Given the description of an element on the screen output the (x, y) to click on. 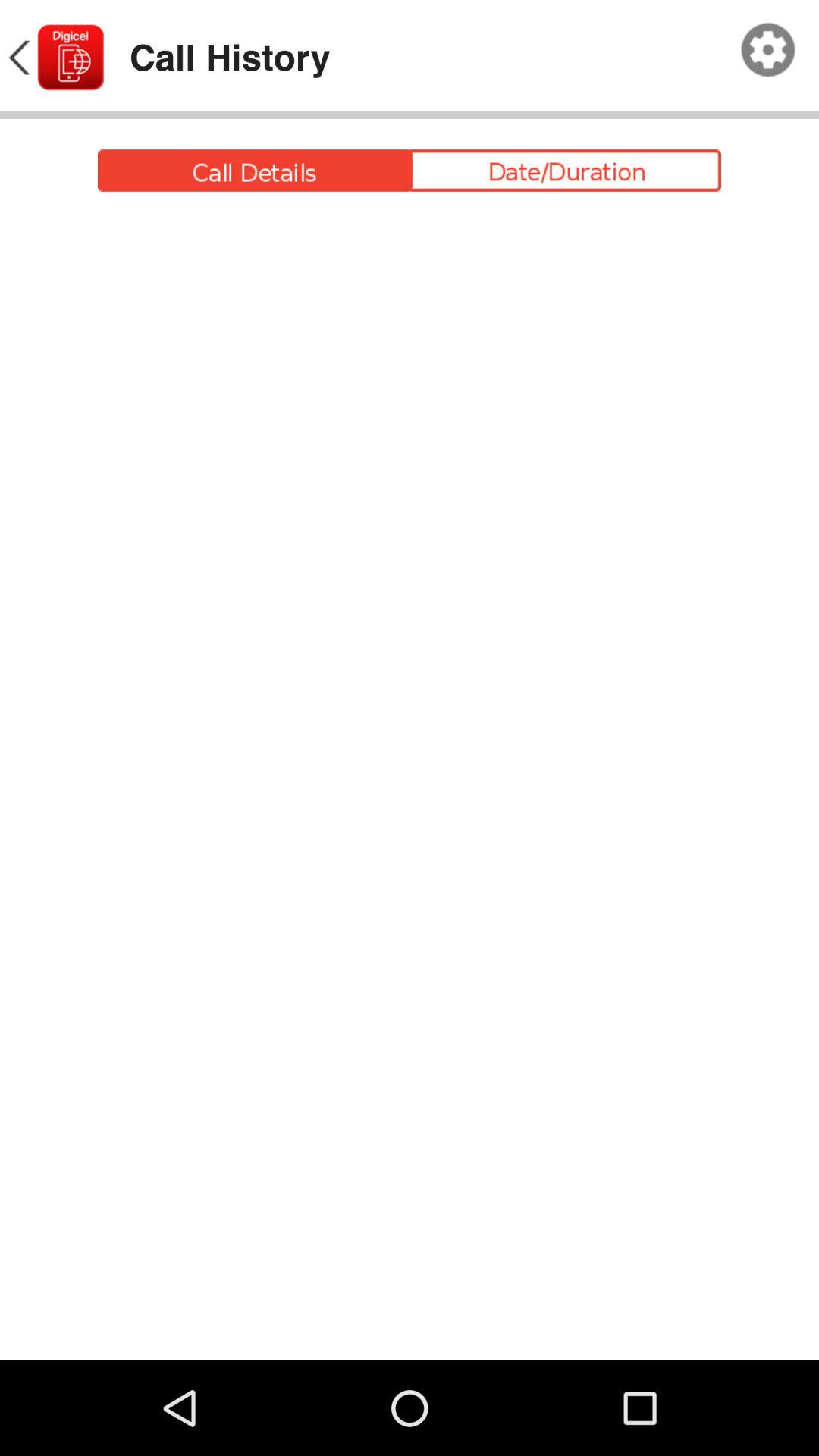
call details (409, 170)
